Given the description of an element on the screen output the (x, y) to click on. 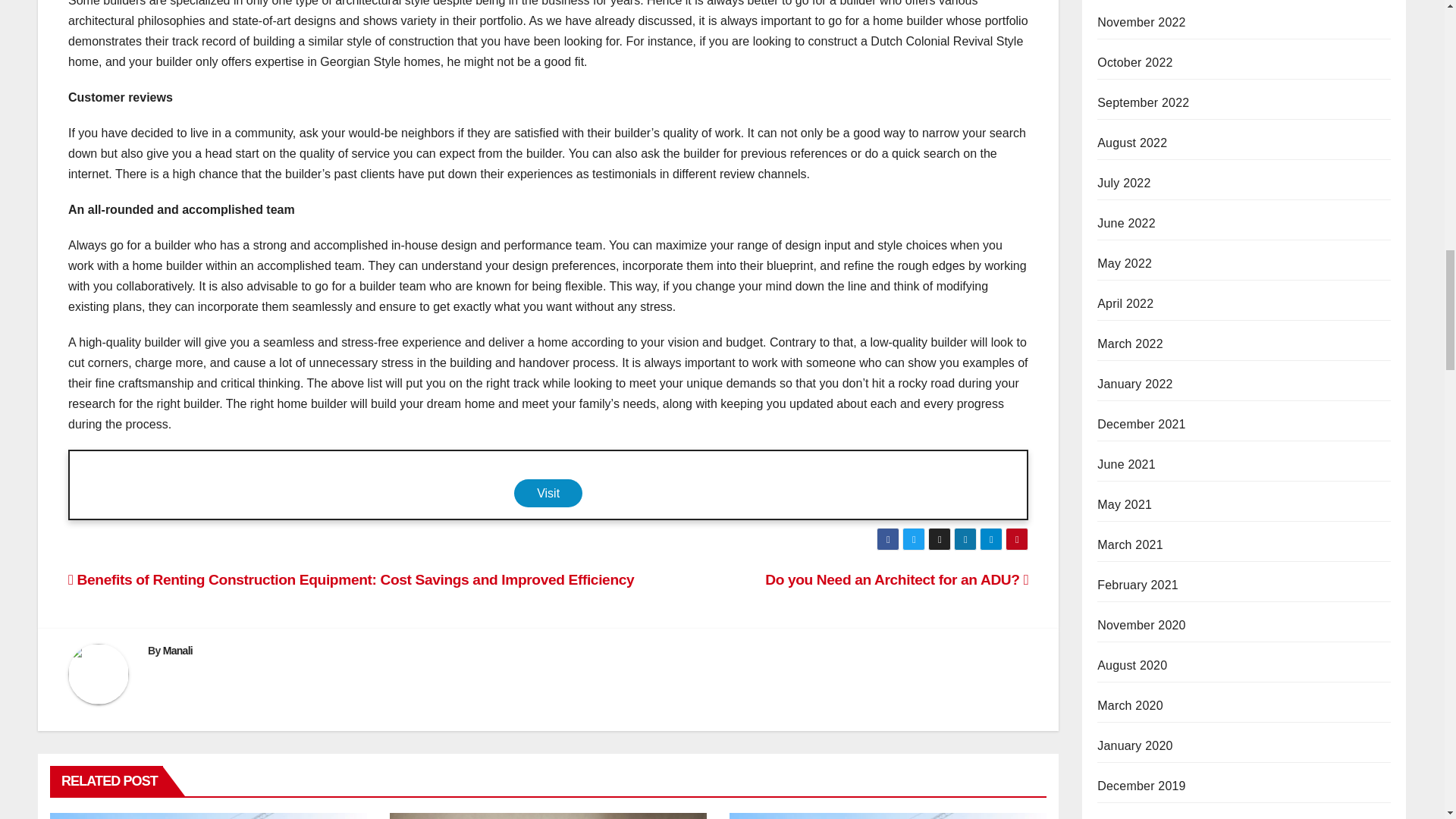
Manali (177, 650)
Visit (547, 492)
Do you Need an Architect for an ADU? (896, 579)
